Given the description of an element on the screen output the (x, y) to click on. 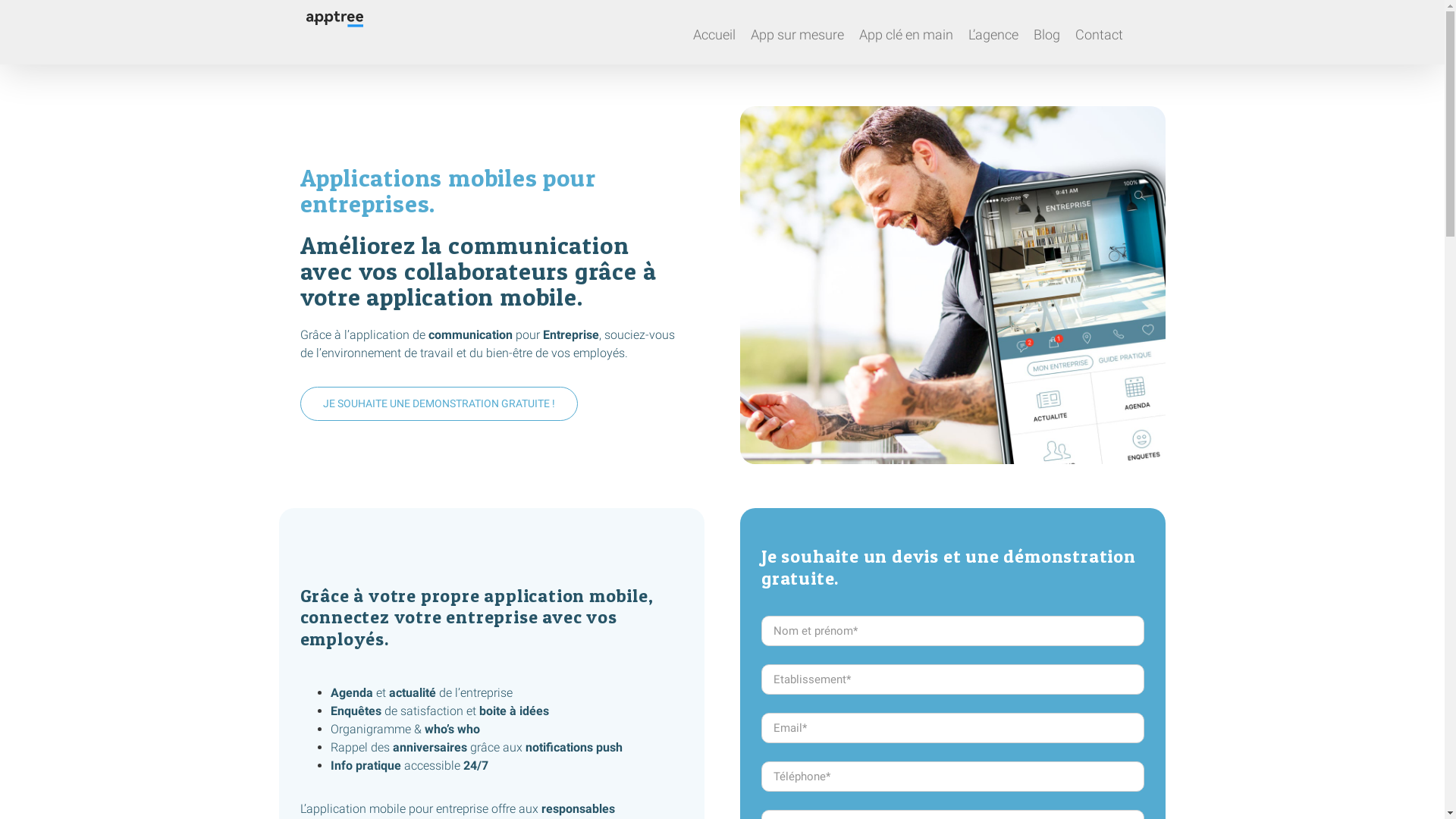
JE SOUHAITE UNE DEMONSTRATION GRATUITE ! Element type: text (438, 403)
Accueil Element type: text (714, 32)
Contact Element type: text (1099, 32)
App sur mesure Element type: text (797, 32)
Blog Element type: text (1046, 32)
